Given the description of an element on the screen output the (x, y) to click on. 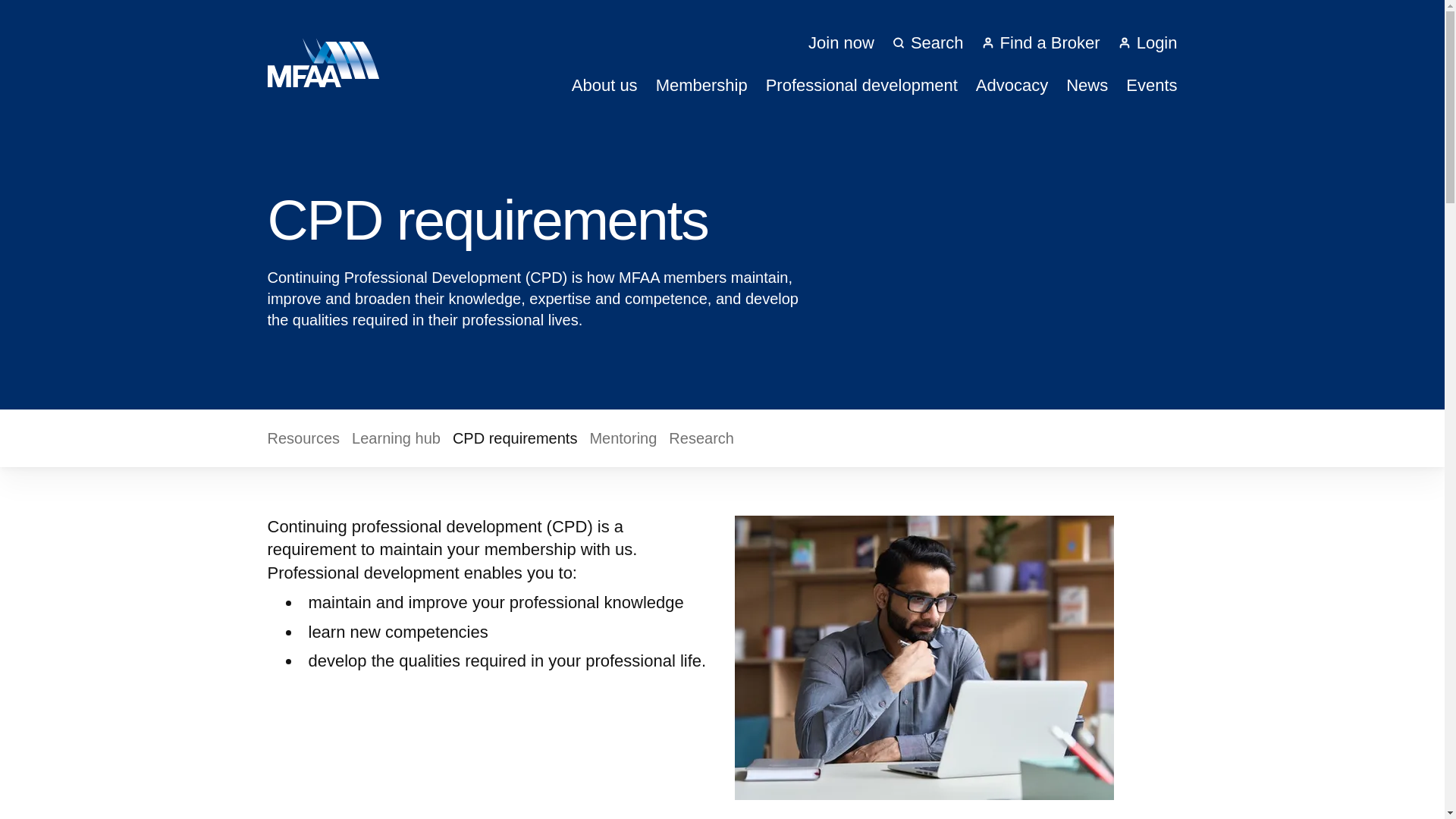
Search (927, 42)
Join now (841, 42)
Membership (702, 85)
Find a Broker (1040, 42)
Login (1147, 42)
Events (1150, 85)
News (1086, 85)
About us (604, 85)
Professional development (861, 85)
Advocacy (1011, 85)
